Given the description of an element on the screen output the (x, y) to click on. 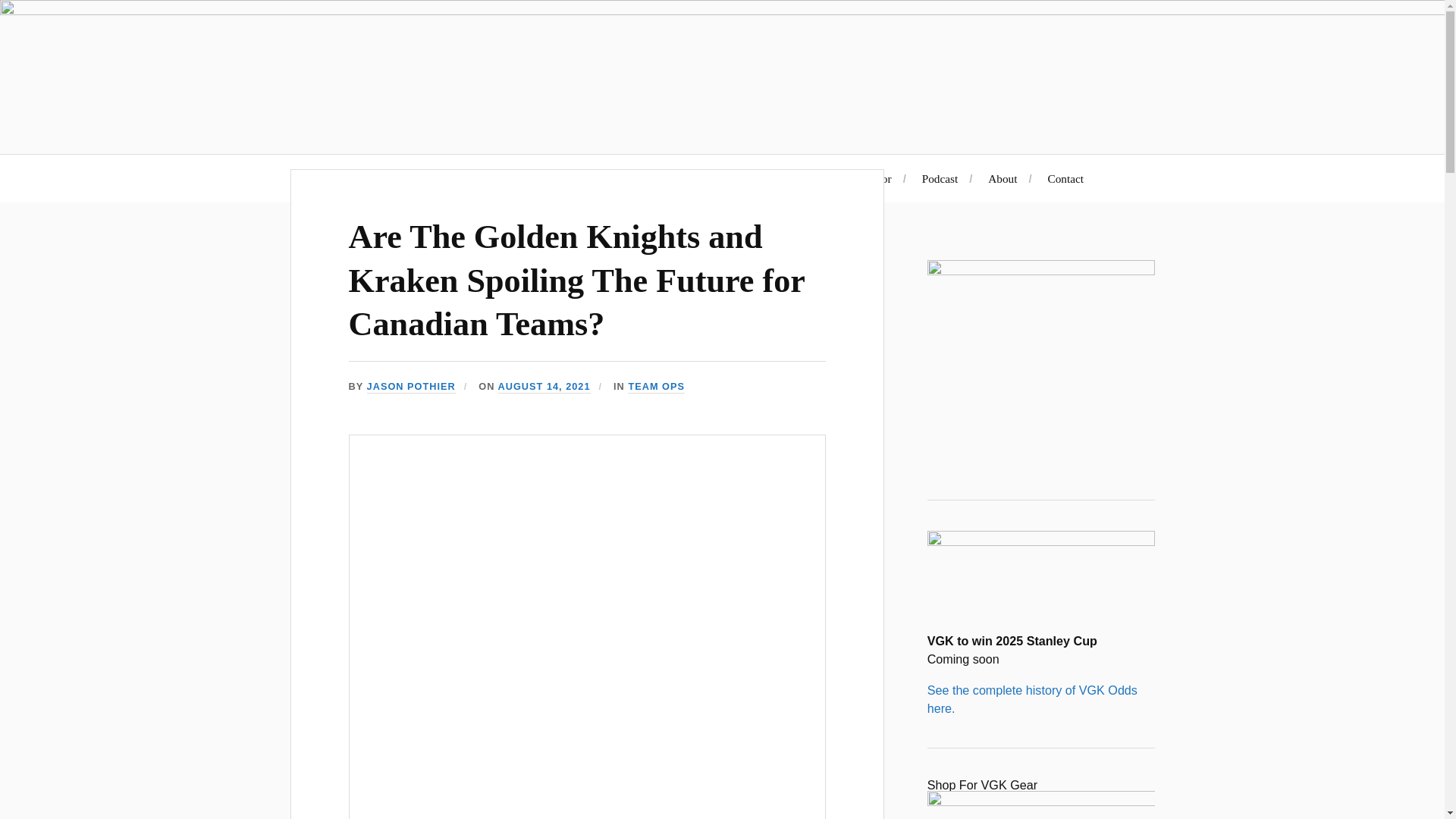
Prospects (783, 178)
AUGUST 14, 2021 (544, 386)
JASON POTHIER (410, 386)
Posts by Jason Pothier (410, 386)
The Creator (863, 178)
Inscriptagraphs Memorabilia (662, 178)
TEAM OPS (655, 386)
